Given the description of an element on the screen output the (x, y) to click on. 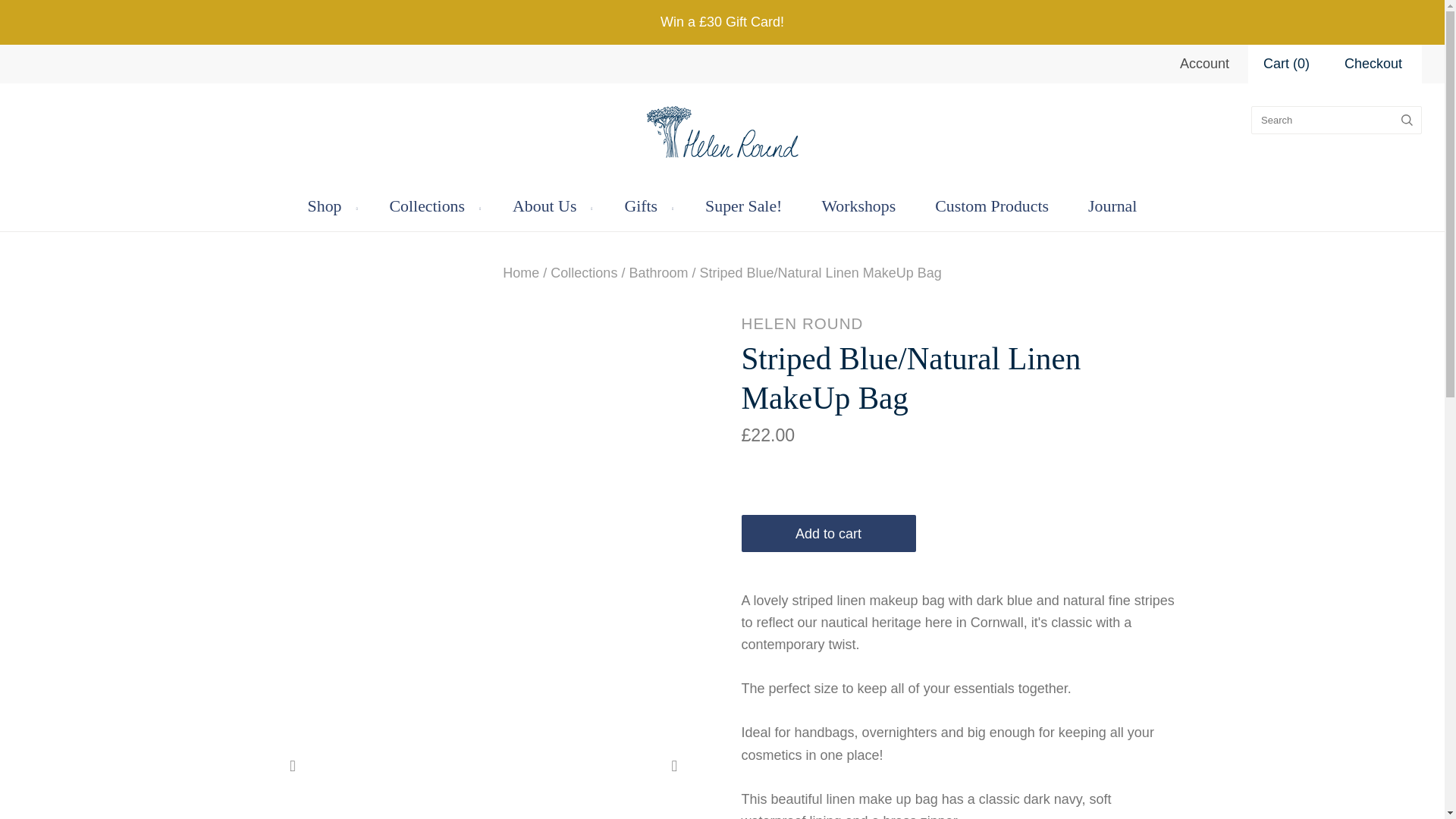
Checkout (1372, 64)
Add to cart (828, 533)
Account (1203, 63)
